Given the description of an element on the screen output the (x, y) to click on. 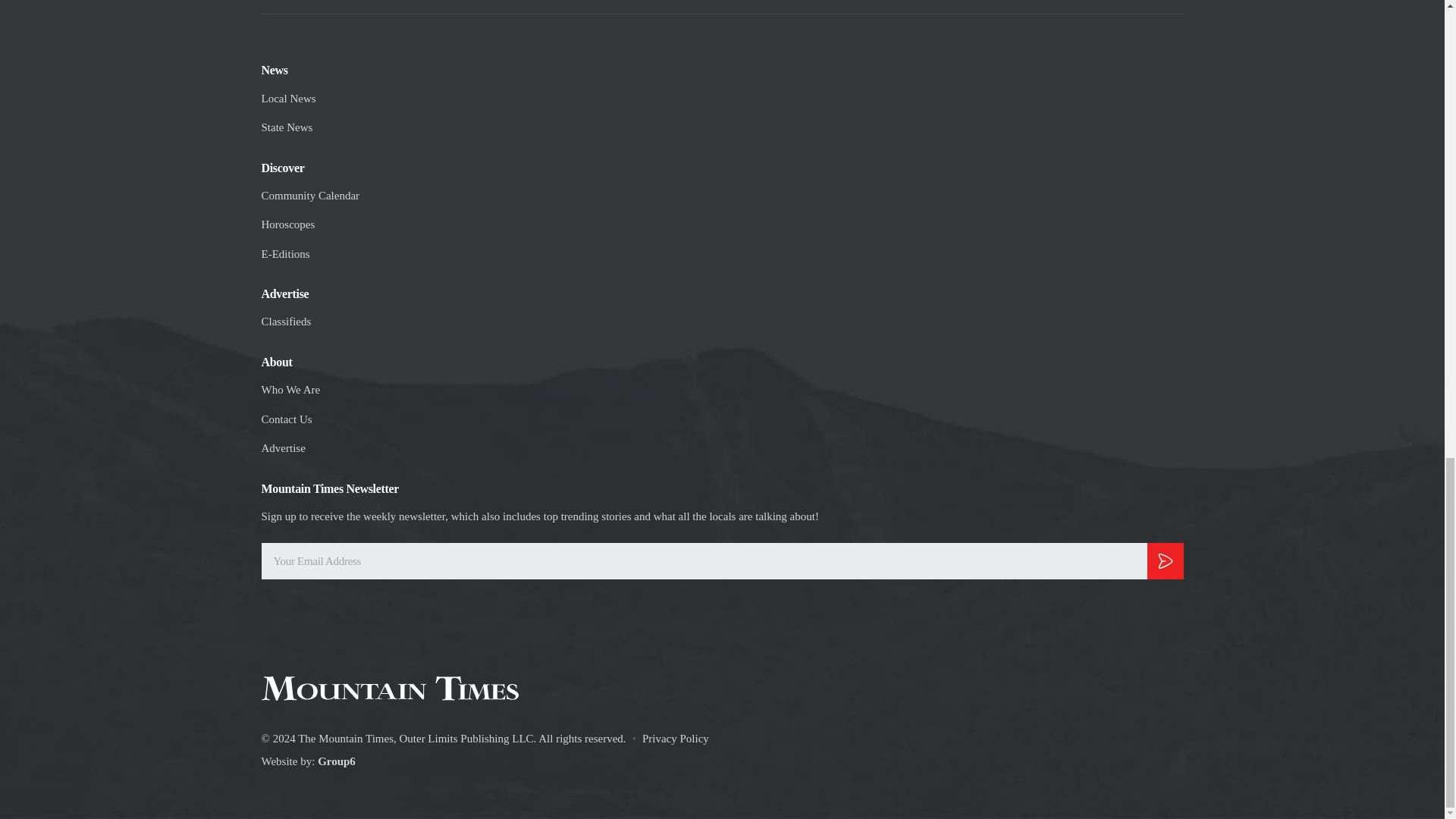
Classifieds (285, 321)
Contact Us (285, 419)
Advertise (282, 448)
E-Editions (284, 253)
Community Calendar (309, 195)
Local News (287, 98)
State News (286, 127)
Horoscopes (287, 224)
Who We Are (290, 389)
